Given the description of an element on the screen output the (x, y) to click on. 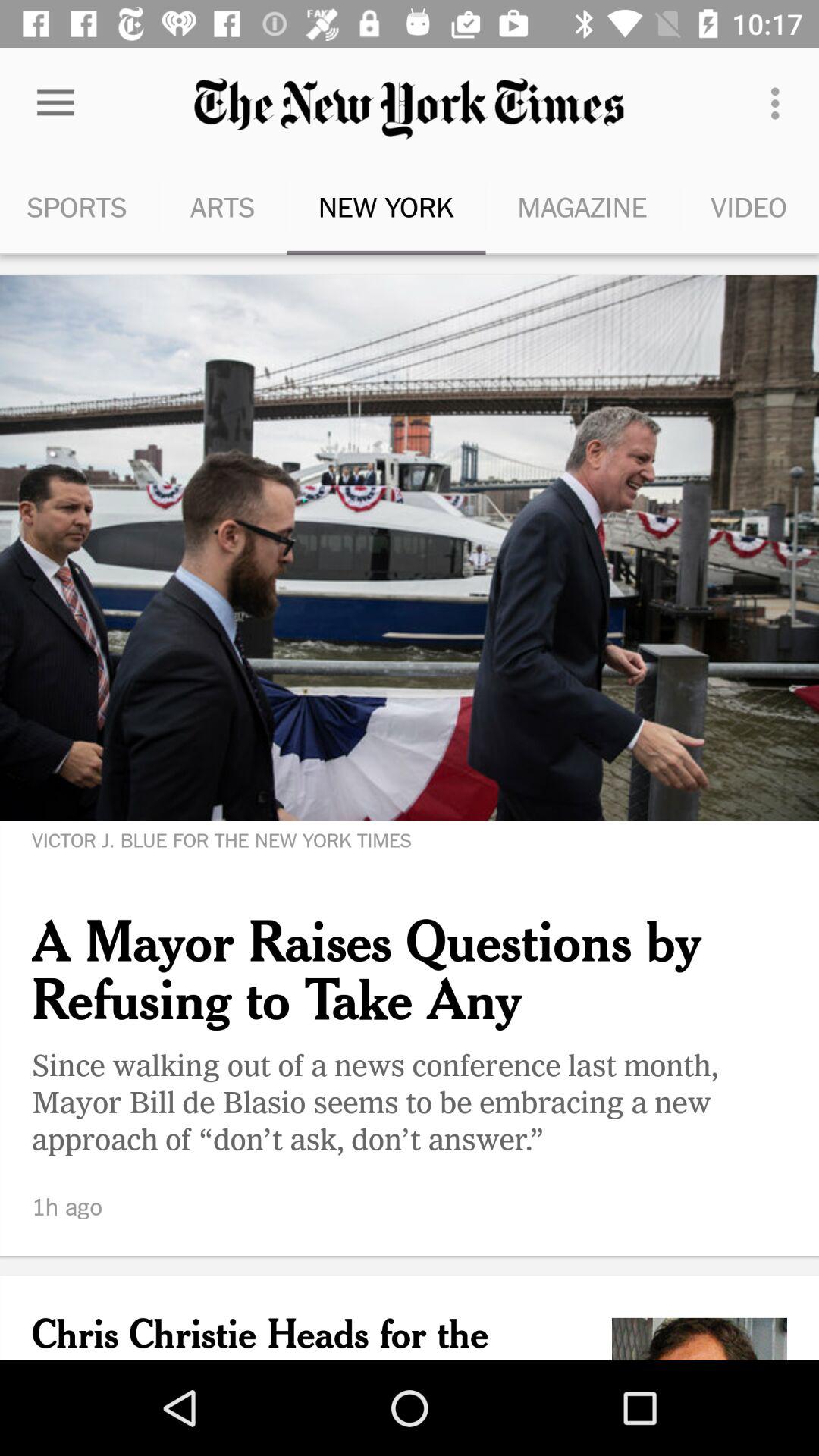
jump to the arts item (222, 206)
